Given the description of an element on the screen output the (x, y) to click on. 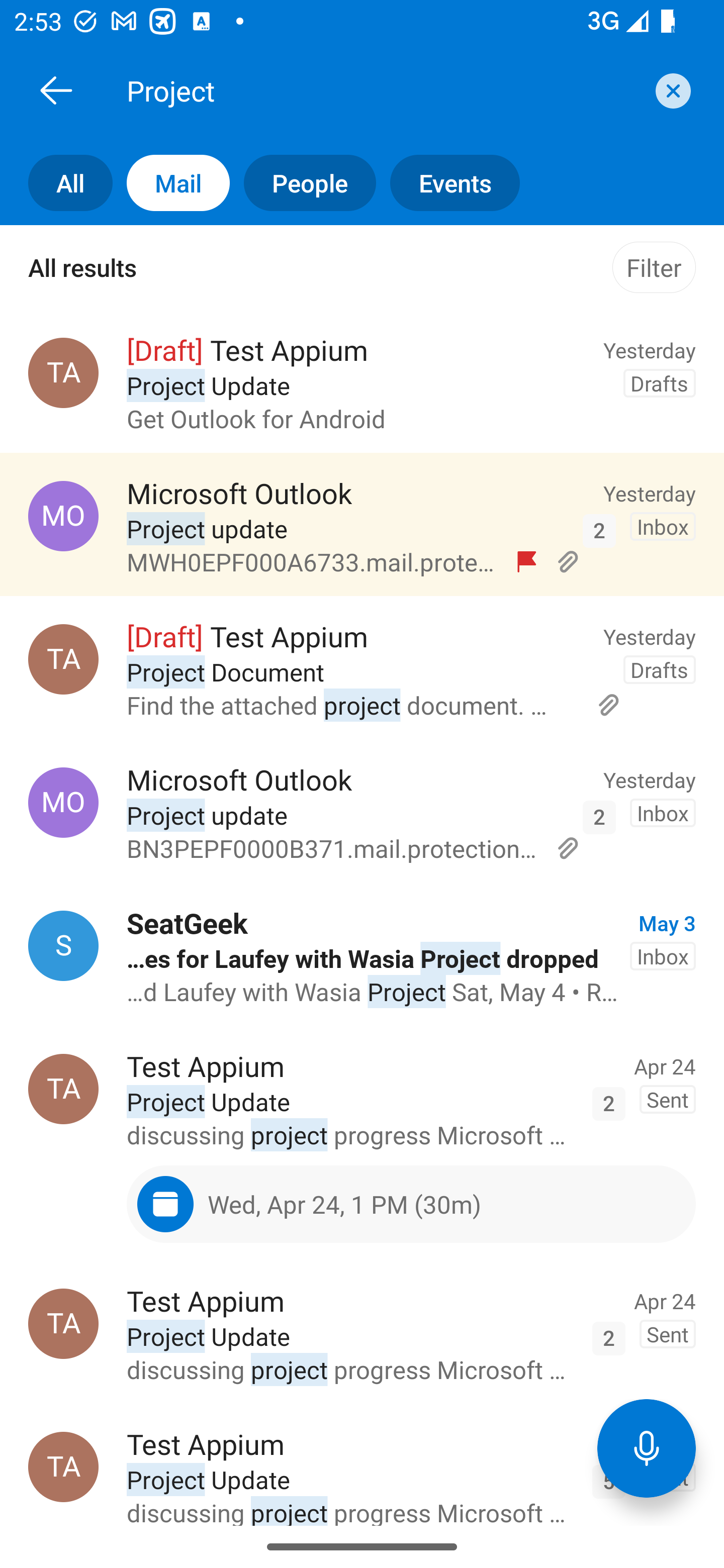
Back (55, 89)
Project (384, 89)
clear search (670, 90)
All (56, 183)
People (302, 183)
Events (447, 183)
Filter (653, 267)
Voice Assistant (646, 1447)
